Given the description of an element on the screen output the (x, y) to click on. 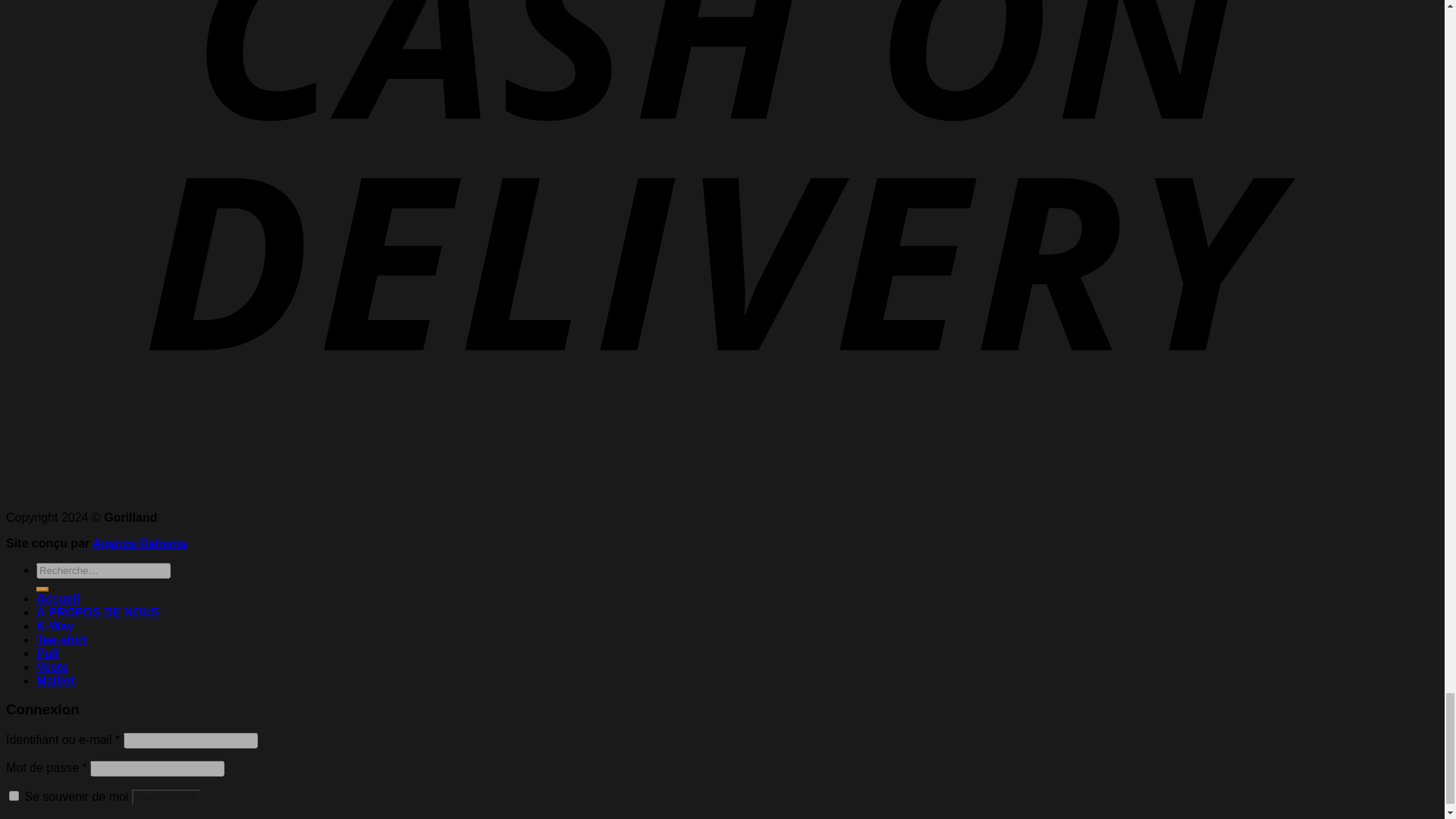
forever (13, 795)
